Given the description of an element on the screen output the (x, y) to click on. 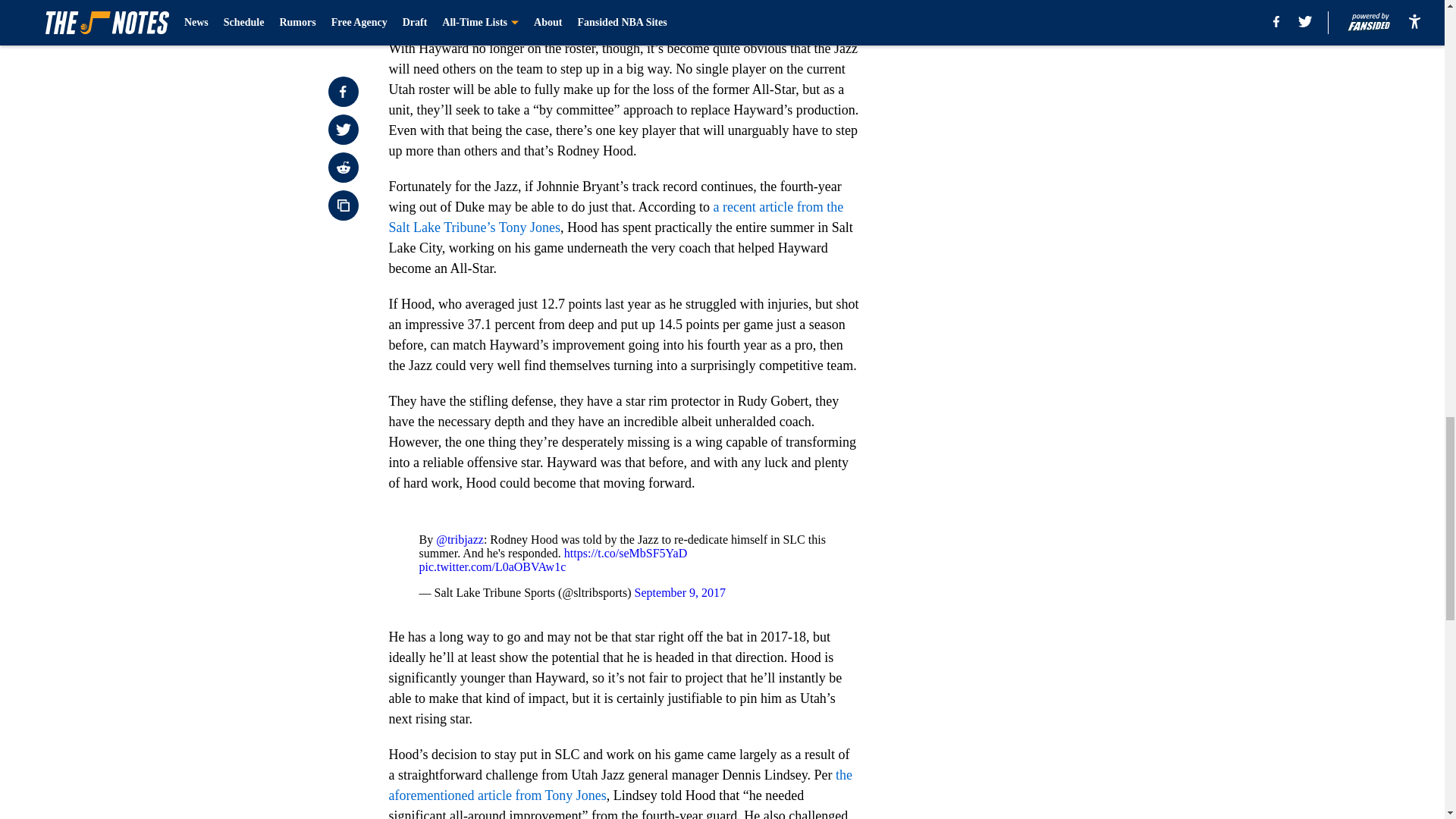
September 9, 2017 (679, 592)
the aforementioned article from Tony Jones (619, 785)
September 11, 2017 (622, 5)
